Given the description of an element on the screen output the (x, y) to click on. 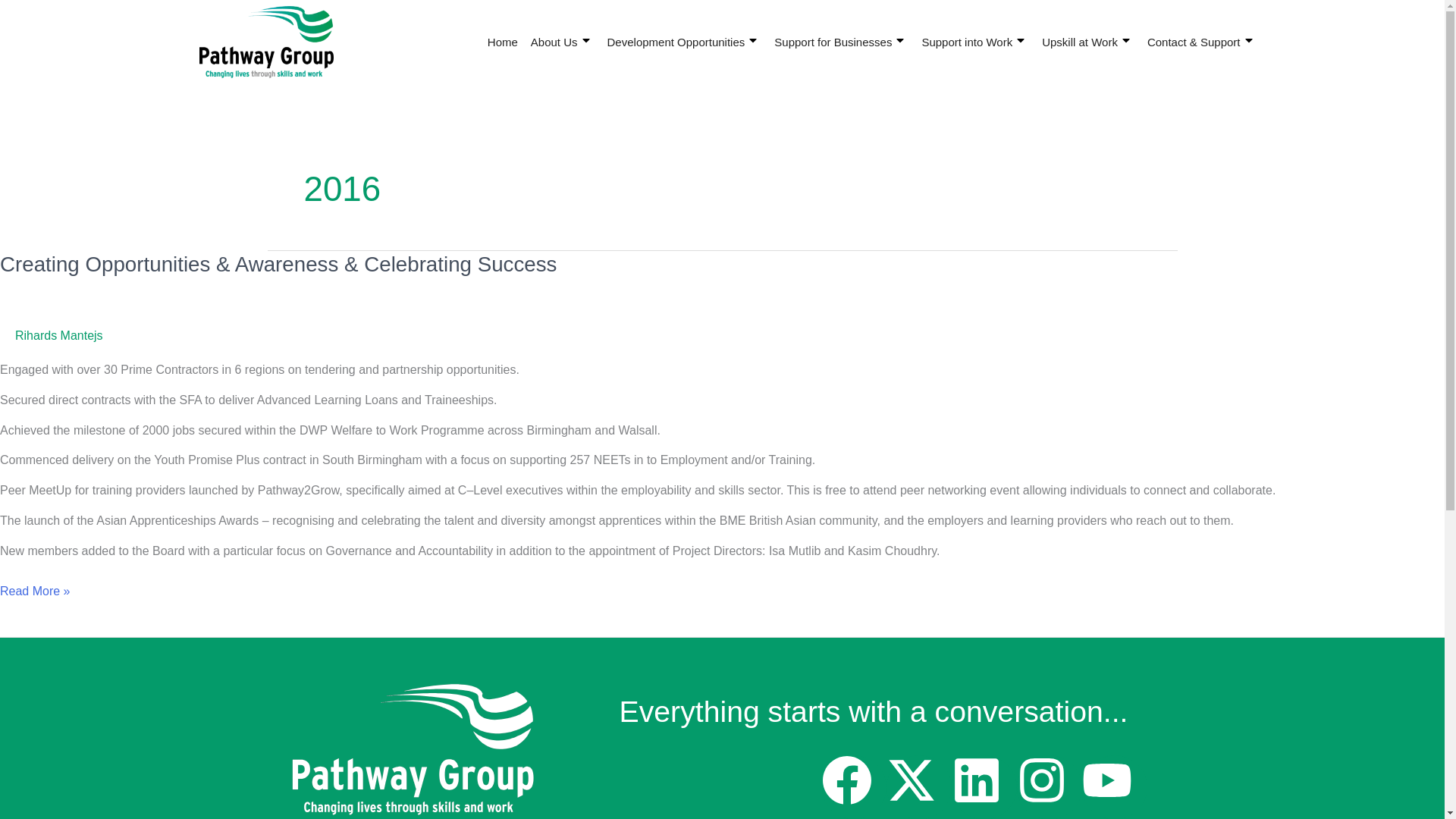
Support for Businesses (842, 42)
View all posts by Rihards Mantejs (58, 335)
Development Opportunities (686, 42)
Follow Pathway on Youtube (1114, 787)
Follow Pathway on Instagram (1048, 787)
Pathway Group (411, 749)
About Us (563, 42)
Follow Pathway on Facebook (854, 787)
Follow Pathway on X (919, 787)
Follow Pathway Group on Social Media,alt (984, 787)
Home (504, 42)
Follow Pathway on Linked In (984, 787)
